Given the description of an element on the screen output the (x, y) to click on. 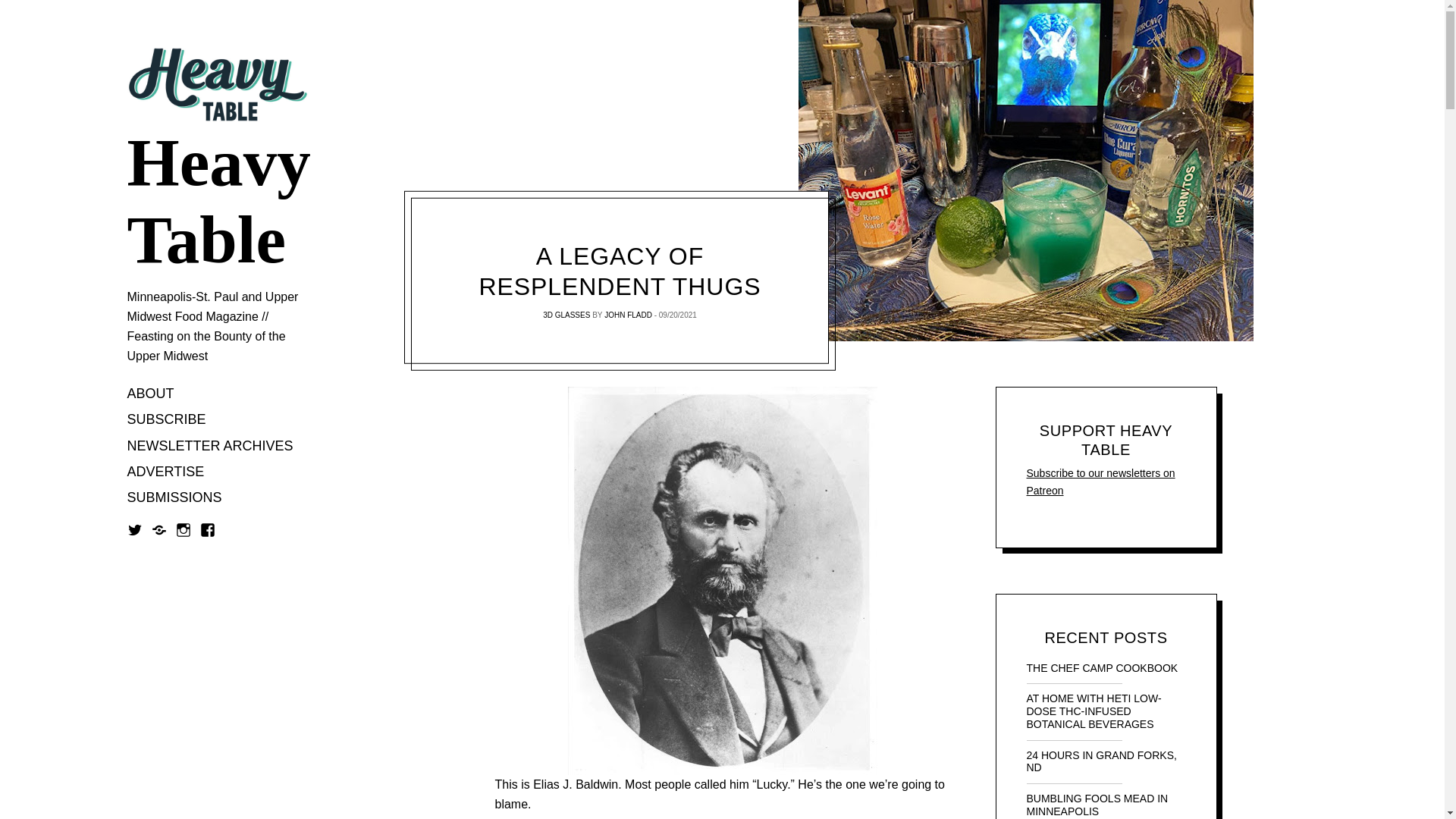
THE CHEF CAMP COOKBOOK (1106, 667)
3D GLASSES (566, 315)
ABOUT (151, 394)
Subscribe to our newsletters on Patreon (1100, 481)
SUBMISSIONS (175, 498)
Heavy Table (218, 201)
ADVERTISE (166, 472)
BUMBLING FOOLS MEAD IN MINNEAPOLIS (1106, 805)
24 HOURS IN GRAND FORKS, ND (1106, 761)
JOHN FLADD (628, 315)
AT HOME WITH HETI LOW-DOSE THC-INFUSED BOTANICAL BEVERAGES (1106, 711)
SUBSCRIBE (167, 420)
NEWSLETTER ARCHIVES (211, 446)
